Given the description of an element on the screen output the (x, y) to click on. 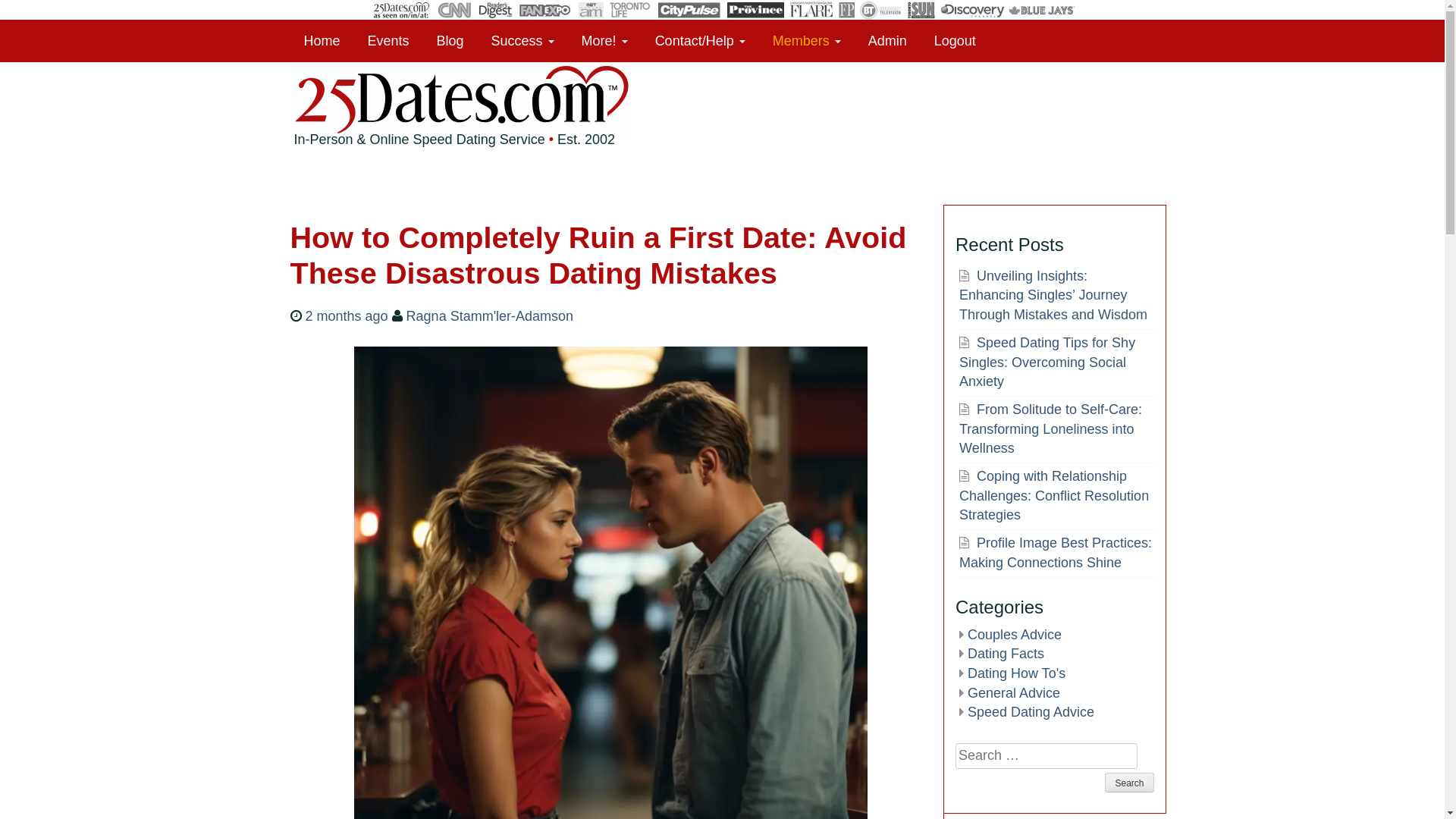
2 months ago Element type: text (345, 315)
Profile Image Best Practices: Making Connections Shine Element type: text (1055, 552)
Success Element type: text (522, 40)
25dates.com Canada's Speed Dating Company Element type: text (459, 133)
Blog Element type: text (450, 40)
Couples Advice Element type: text (1014, 634)
Ragna Stamm'ler-Adamson Element type: text (490, 315)
Speed Dating Advice Element type: text (1030, 711)
Dating Facts Element type: text (1005, 653)
Admin Element type: text (887, 40)
Home Element type: text (321, 40)
Dating How To's Element type: text (1016, 672)
General Advice Element type: text (1013, 692)
Logout Element type: text (954, 40)
More! Element type: text (604, 40)
Speed Dating Tips for Shy Singles: Overcoming Social Anxiety Element type: text (1047, 362)
Search Element type: text (1128, 782)
Contact/Help Element type: text (700, 40)
Members Element type: text (806, 40)
Events Element type: text (388, 40)
